Given the description of an element on the screen output the (x, y) to click on. 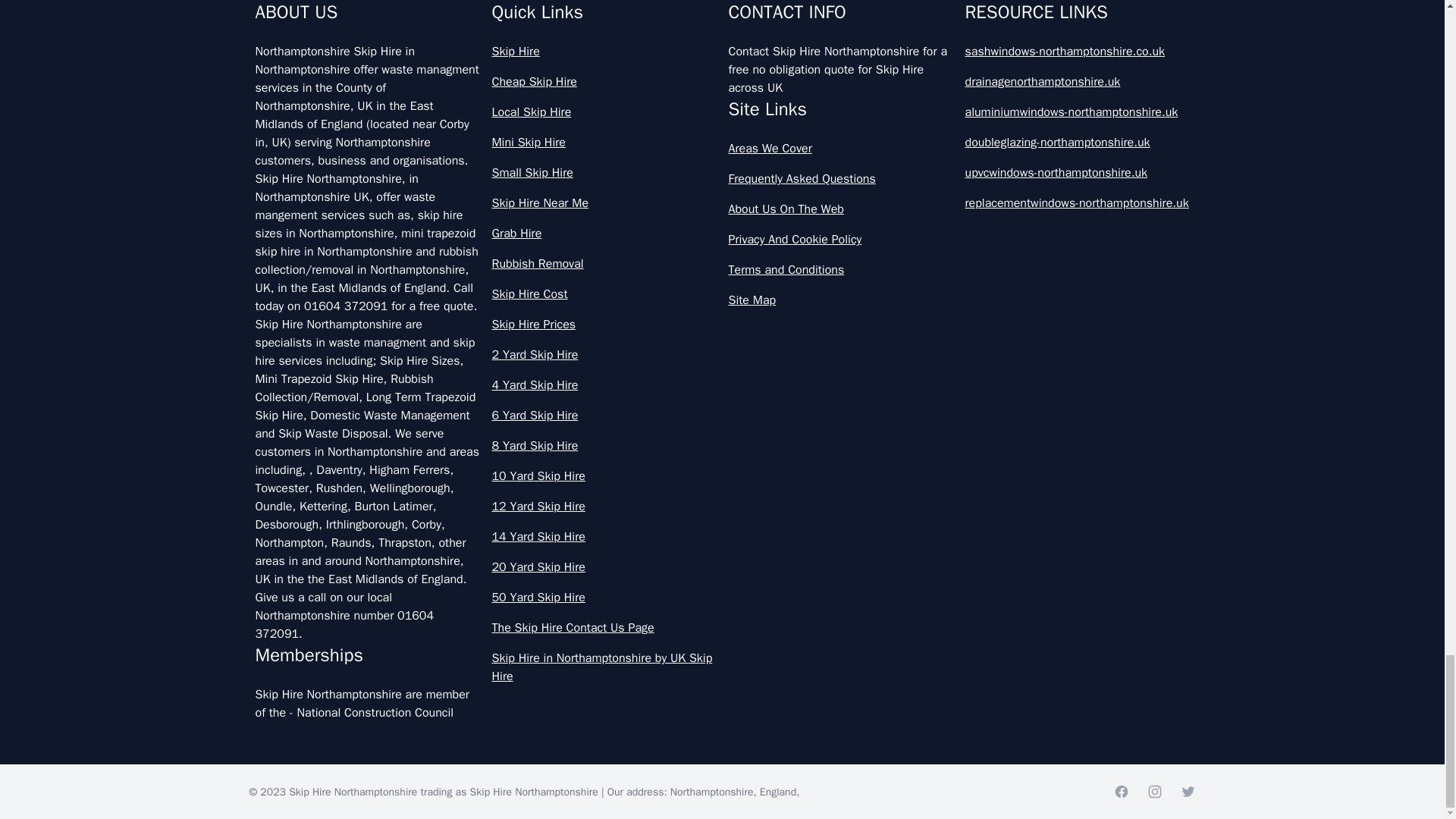
sashwindows-northamptonshire.co.uk (1076, 51)
Skip Hire in Northamptonshire by UK Skip Hire (604, 667)
upvcwindows-northamptonshire.uk (1076, 172)
doubleglazing-northamptonshire.uk (1076, 142)
replacementwindows-northamptonshire.uk (1076, 203)
drainagenorthamptonshire.uk (1076, 81)
Upper Catesby (486, 36)
Site Map (840, 300)
National Construction Council (374, 712)
aluminiumwindows-northamptonshire.uk (1076, 112)
Westhorp (945, 36)
